Given the description of an element on the screen output the (x, y) to click on. 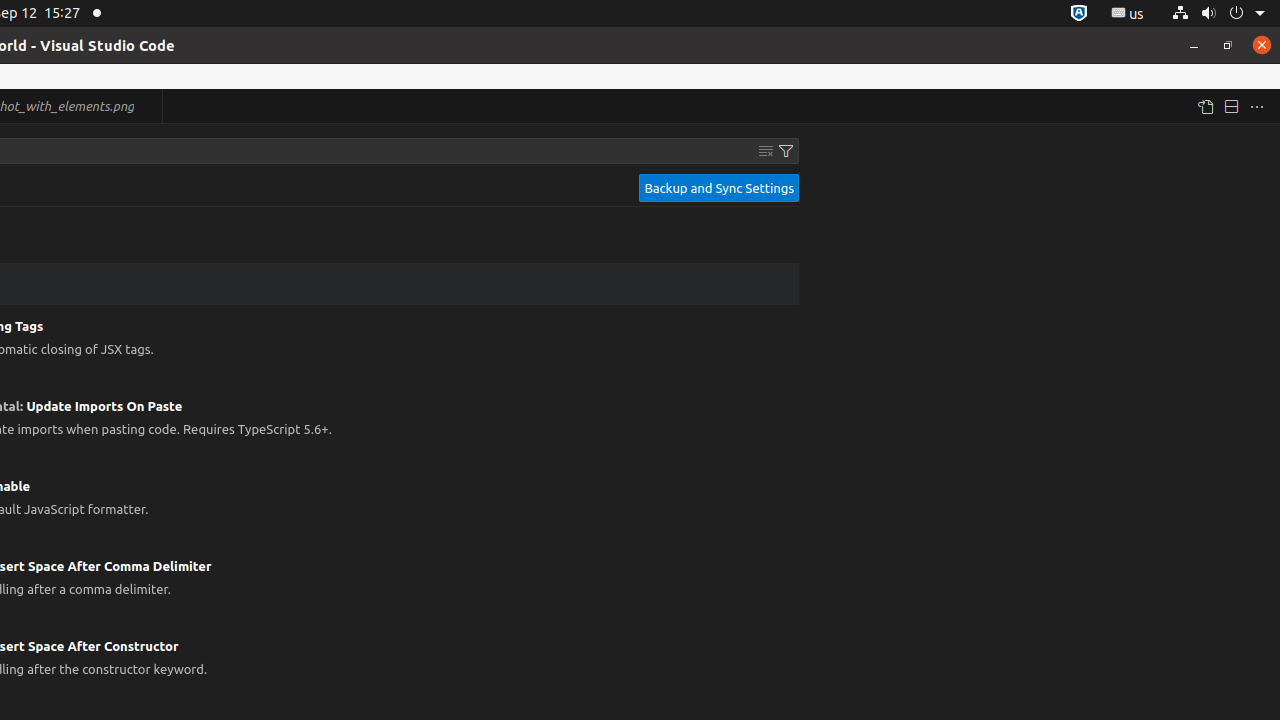
Clear Settings Search Input Element type: push-button (766, 151)
More Actions... Element type: push-button (1257, 106)
Split Editor Right (Ctrl+\) [Alt] Split Editor Down Element type: push-button (1231, 106)
Filter Settings Element type: push-button (786, 151)
Backup and Sync Settings Element type: push-button (719, 188)
